Given the description of an element on the screen output the (x, y) to click on. 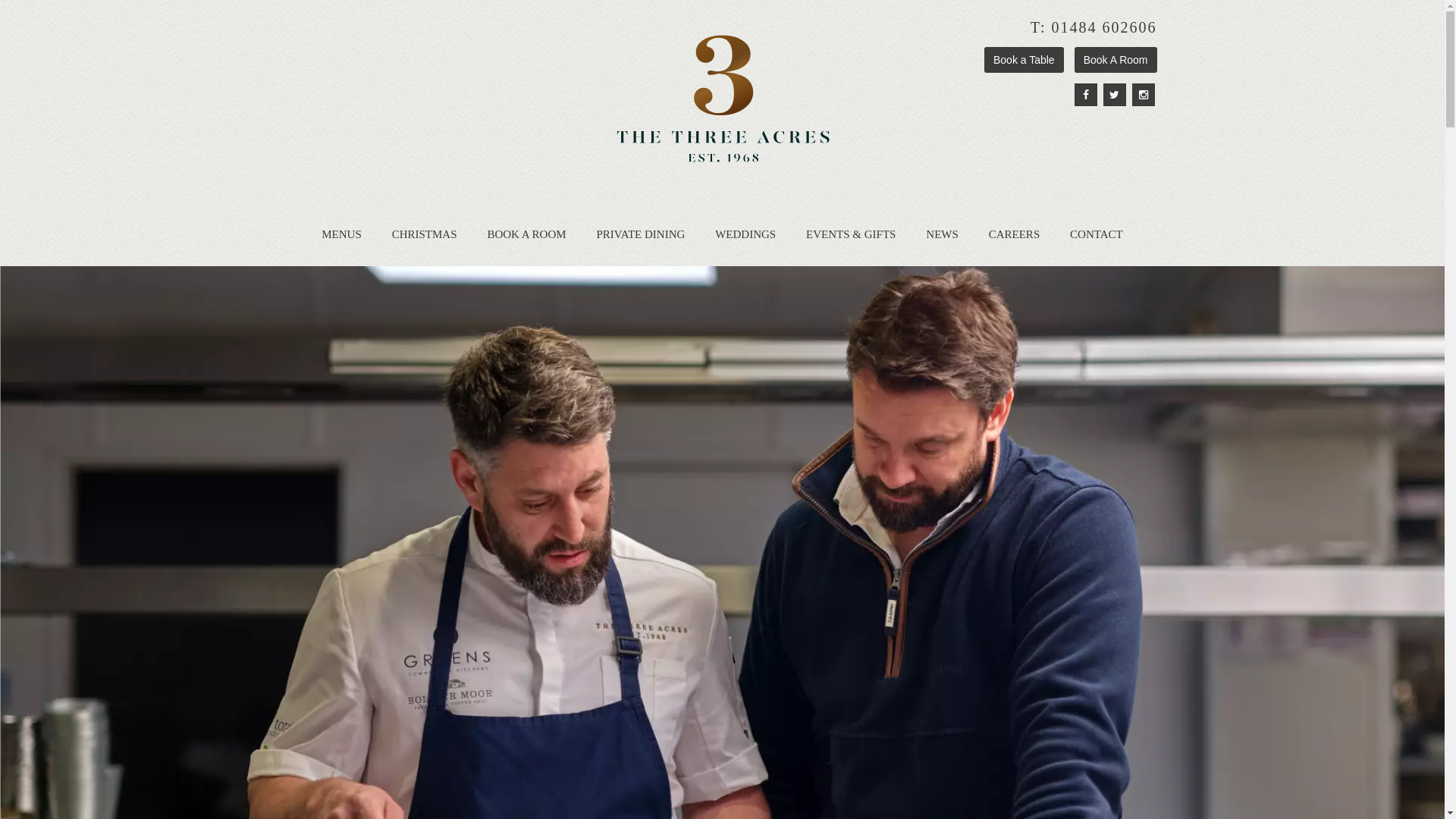
01484 602606 Element type: text (1103, 26)
Book a Table Element type: text (1023, 59)
EVENTS & GIFTS Element type: text (850, 234)
BOOK A ROOM Element type: text (525, 234)
MENUS Element type: text (341, 234)
CAREERS Element type: text (1014, 234)
CHRISTMAS Element type: text (424, 234)
WEDDINGS Element type: text (745, 234)
Book A Room Element type: text (1115, 59)
CONTACT Element type: text (1096, 234)
PRIVATE DINING Element type: text (640, 234)
NEWS Element type: text (941, 234)
